Given the description of an element on the screen output the (x, y) to click on. 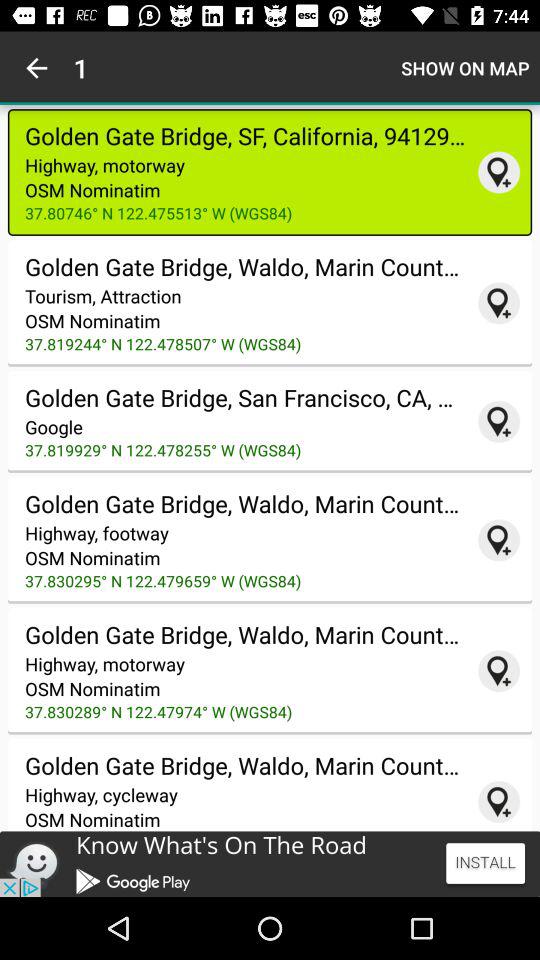
tag this location (499, 303)
